Given the description of an element on the screen output the (x, y) to click on. 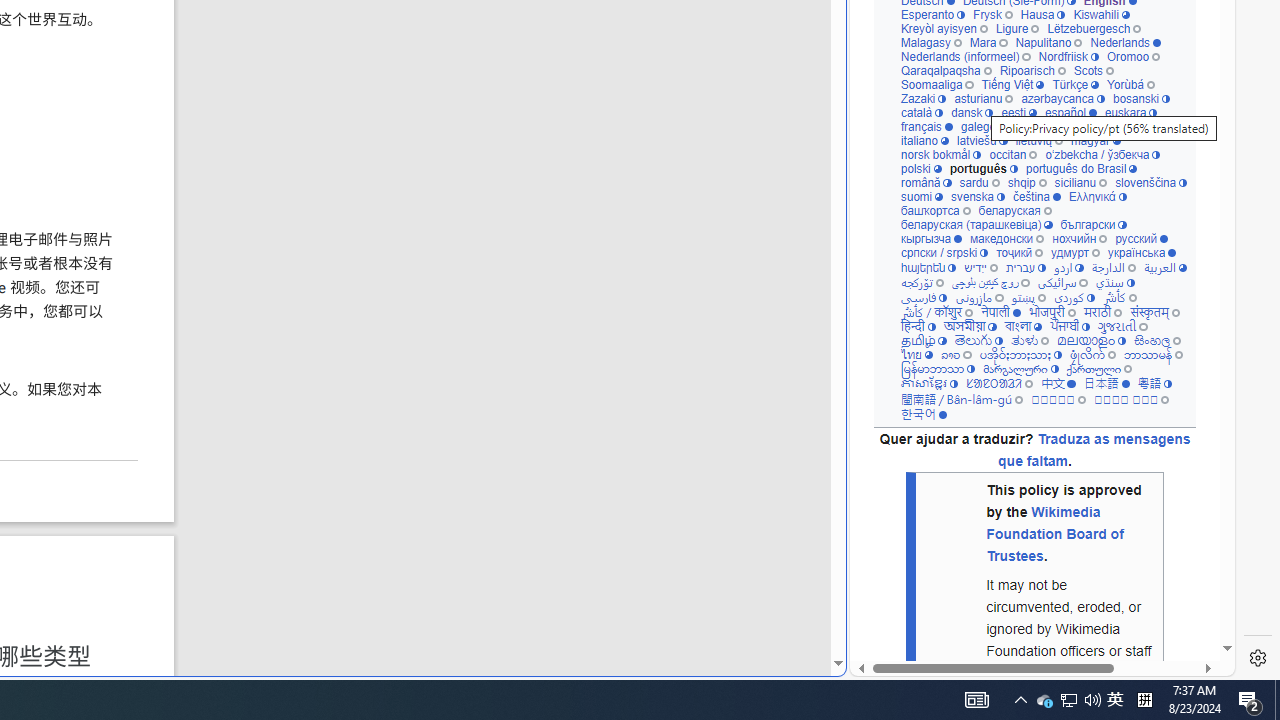
Nordfriisk (1068, 56)
Soomaaliga (936, 84)
sardu (978, 182)
Nederlands (1126, 42)
Malagasy (930, 42)
